Given the description of an element on the screen output the (x, y) to click on. 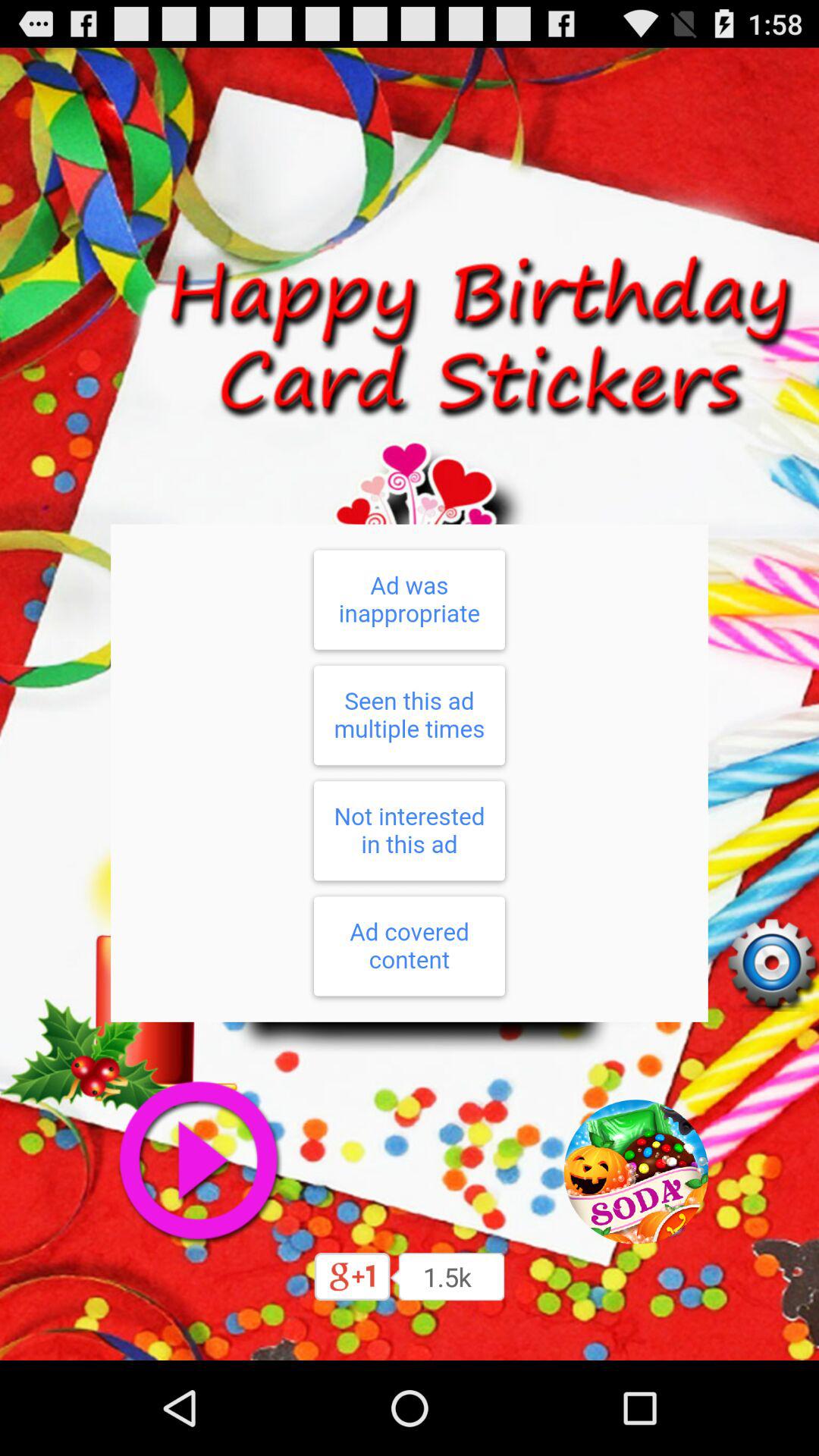
open settings (771, 963)
